Given the description of an element on the screen output the (x, y) to click on. 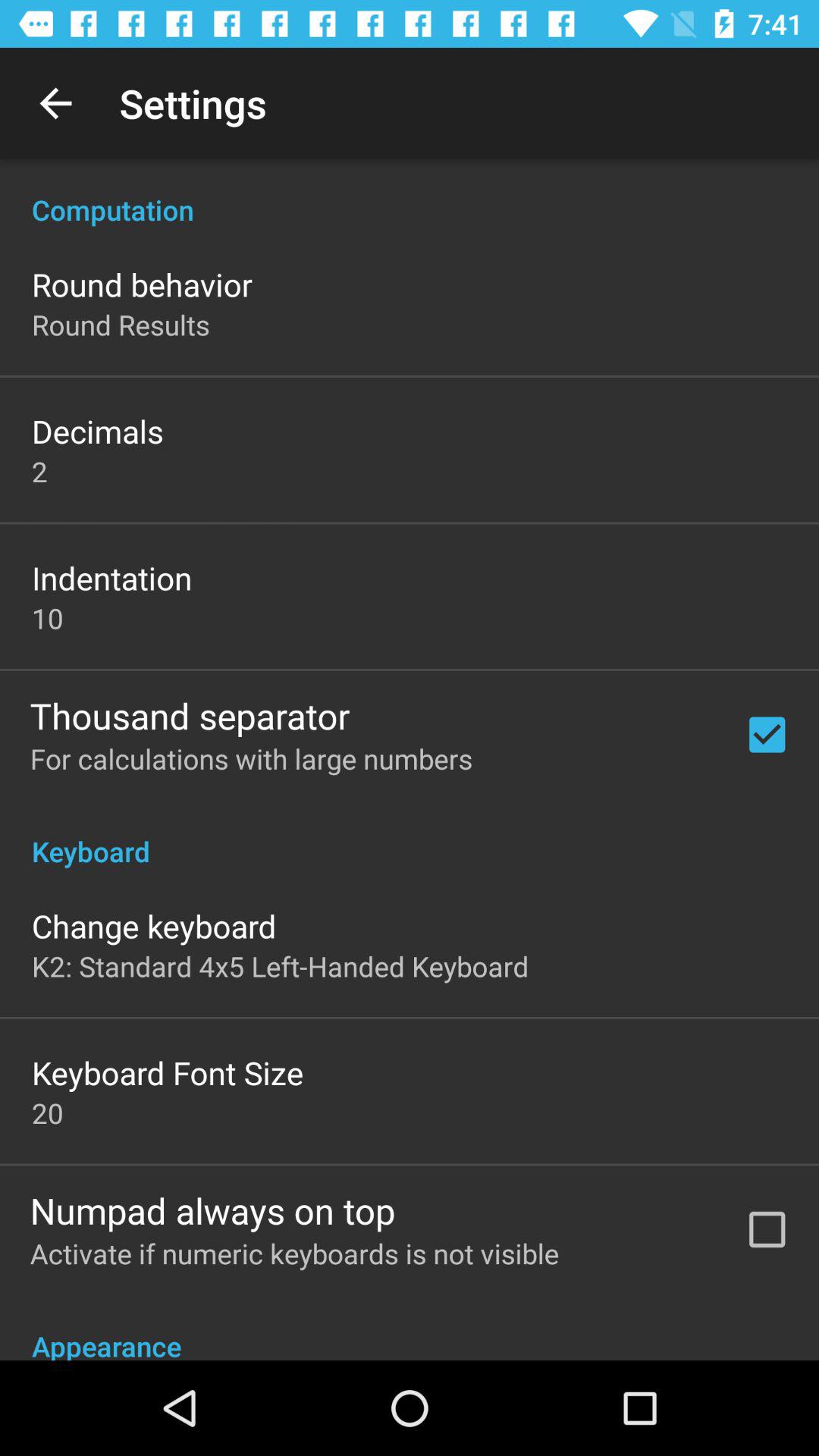
click on the first check box (767, 735)
